Given the description of an element on the screen output the (x, y) to click on. 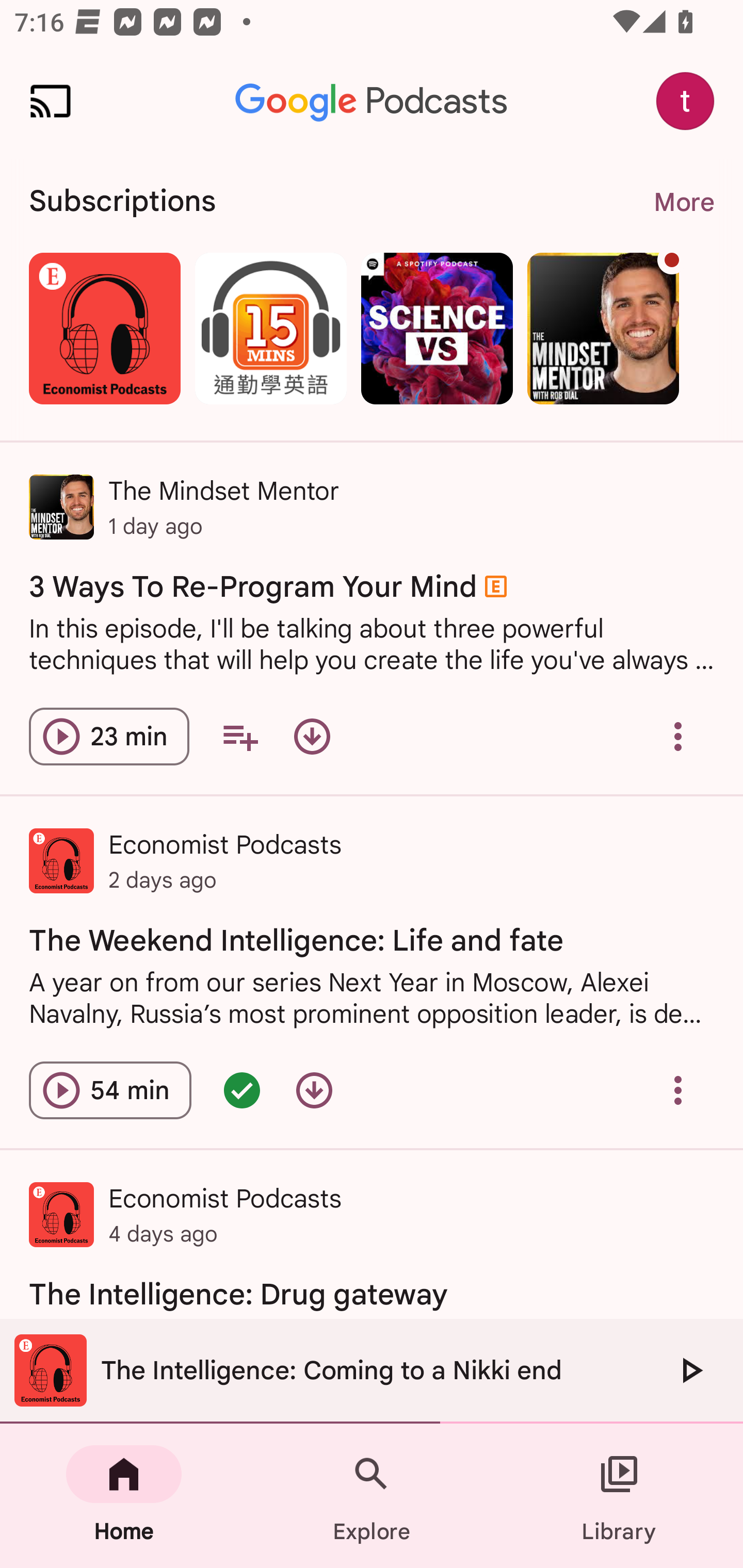
Cast. Disconnected (50, 101)
More More. Navigate to subscriptions page. (683, 202)
Economist Podcasts (104, 328)
通勤學英語 15Mins Today (270, 328)
Science Vs (436, 328)
The Mindset Mentor (603, 328)
Play episode 3 Ways To Re-Program Your Mind 23 min (108, 736)
Add to your queue (239, 736)
Download episode (312, 736)
Overflow menu (677, 736)
Episode queued - double tap for options (241, 1090)
Download episode (313, 1090)
Overflow menu (677, 1090)
Play (690, 1370)
Explore (371, 1495)
Library (619, 1495)
